Given the description of an element on the screen output the (x, y) to click on. 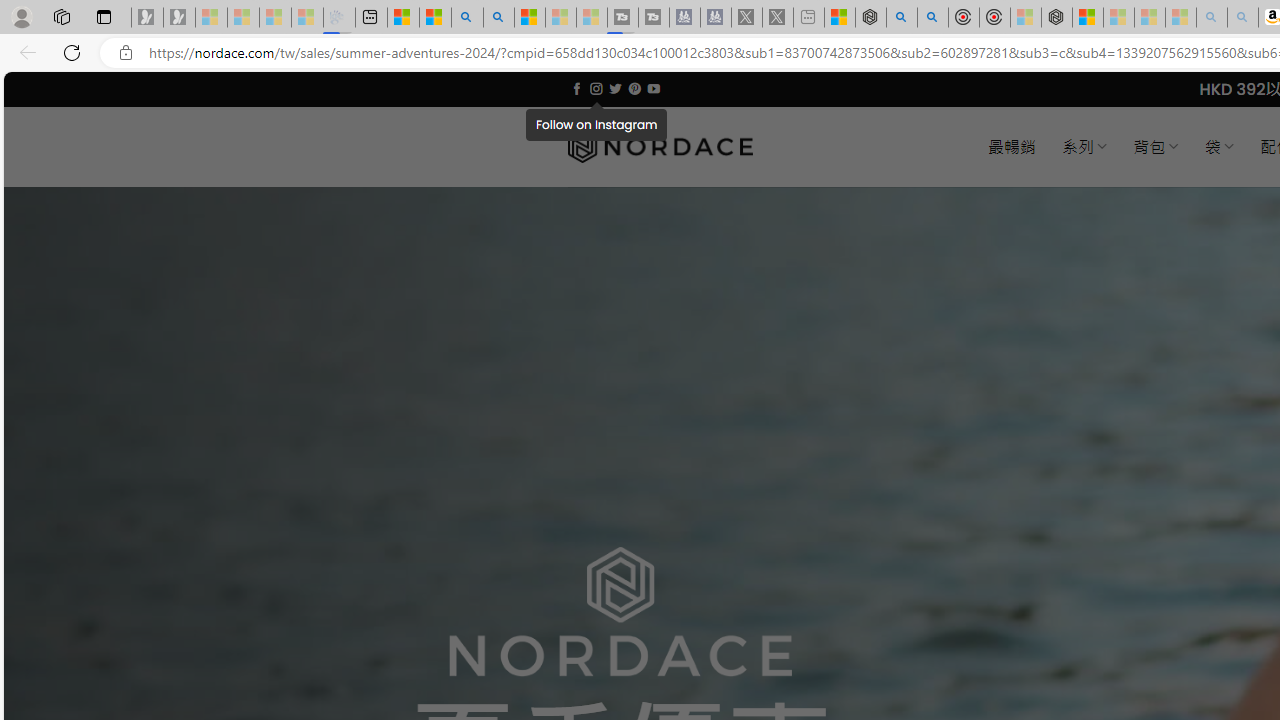
Amazon Echo Dot PNG - Search Images - Sleeping (1242, 17)
